Given the description of an element on the screen output the (x, y) to click on. 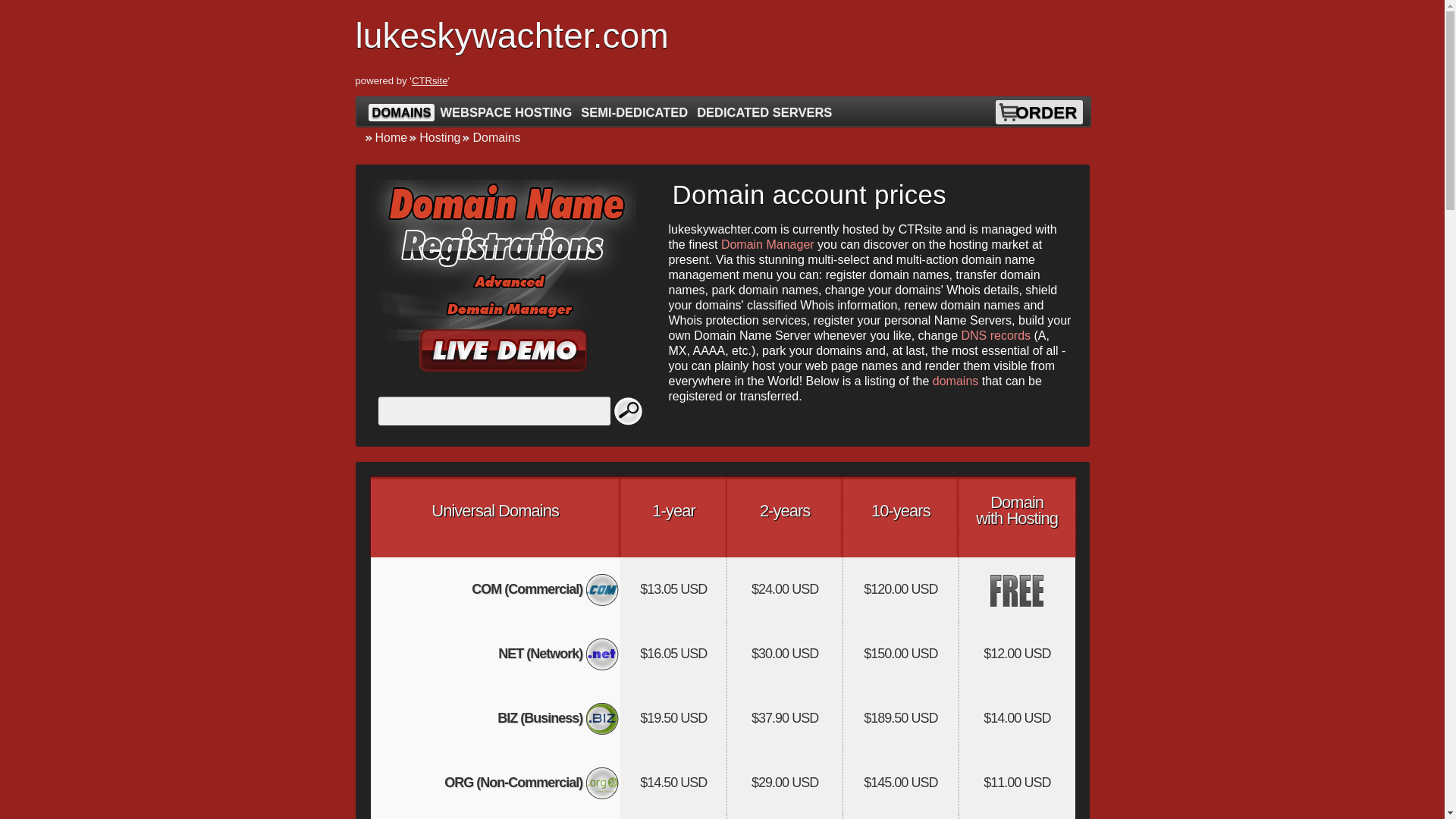
ORDER (1045, 112)
Hosting (433, 137)
Search (628, 410)
WEBSPACE HOSTING (505, 112)
DEDICATED SERVERS (764, 112)
DNS records (995, 335)
SEMI-DEDICATED (633, 112)
Home (384, 137)
domains (955, 380)
CTRsite (430, 80)
